Given the description of an element on the screen output the (x, y) to click on. 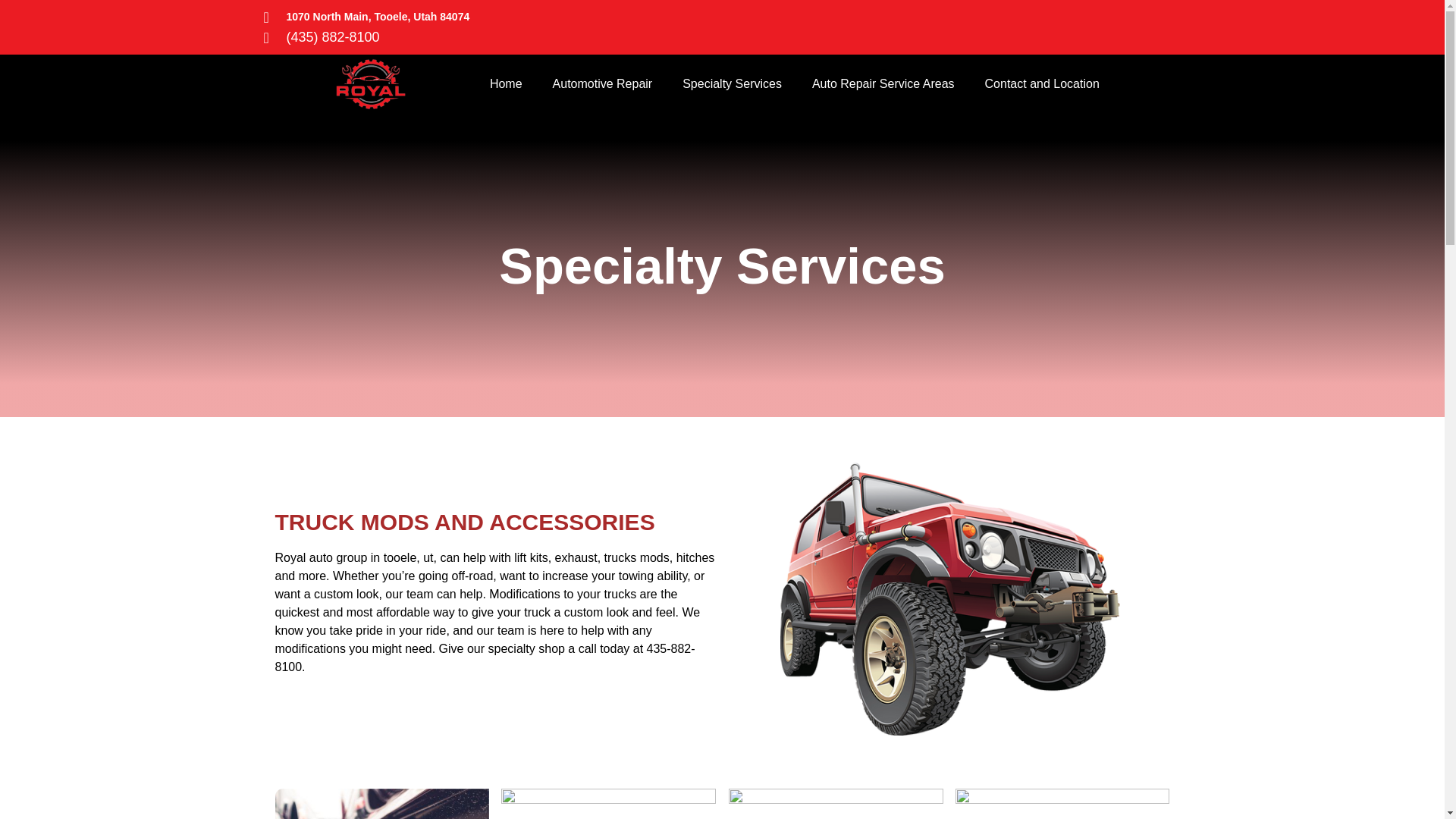
1070 North Main, Tooele, Utah 84074 (408, 17)
Automotive Repair (602, 83)
Auto Repair Service Areas (882, 83)
Home (505, 83)
Contact and Location (1042, 83)
Specialty Services (731, 83)
